Given the description of an element on the screen output the (x, y) to click on. 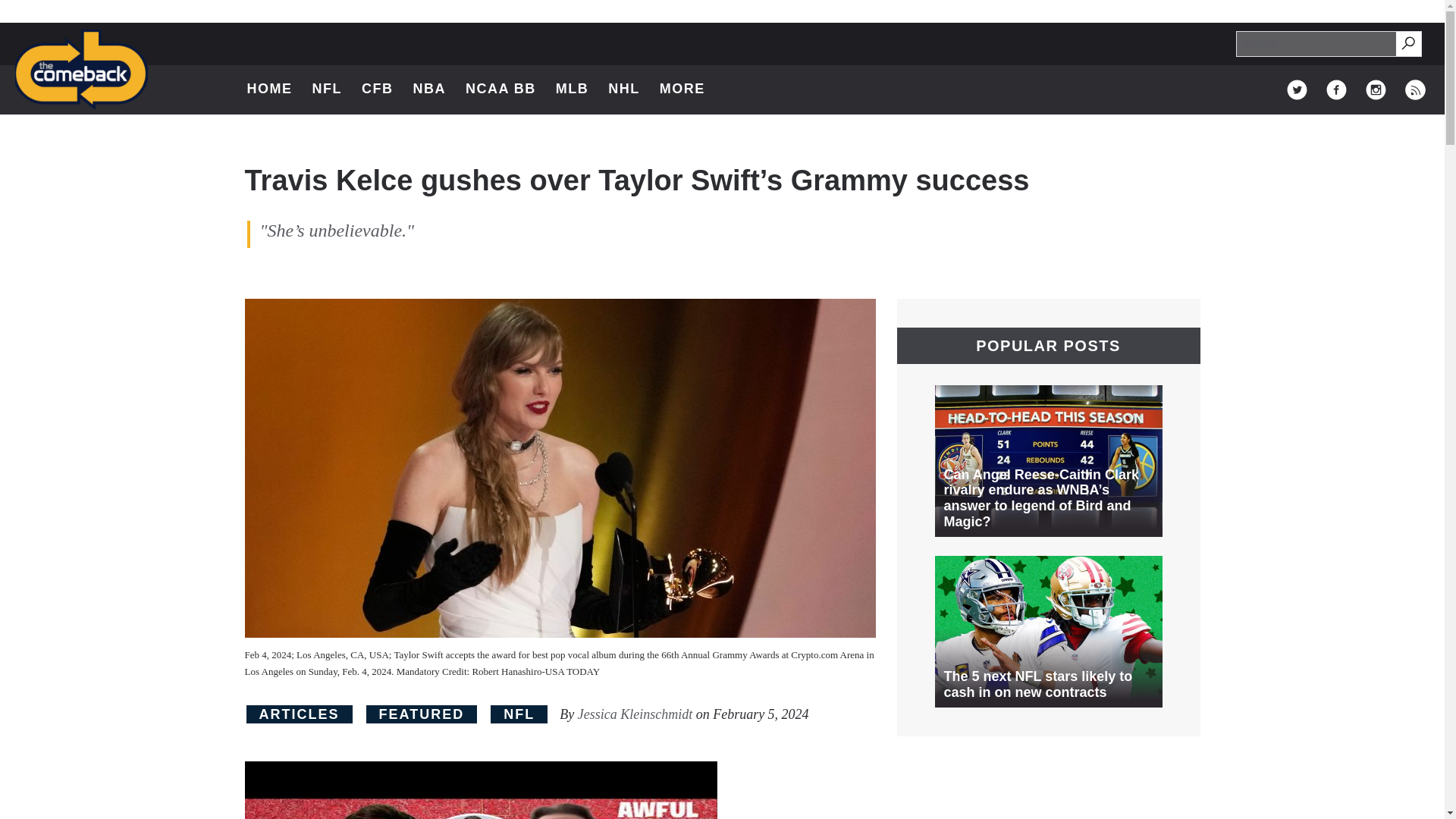
CFB (376, 89)
NBA (428, 89)
Link to Instagram (1375, 89)
SEARCH (1407, 42)
NHL (624, 89)
HOME (269, 89)
View all posts in NFL (1414, 89)
Primis Frame (1296, 89)
MORE (518, 714)
Link to RSS (689, 89)
